Given the description of an element on the screen output the (x, y) to click on. 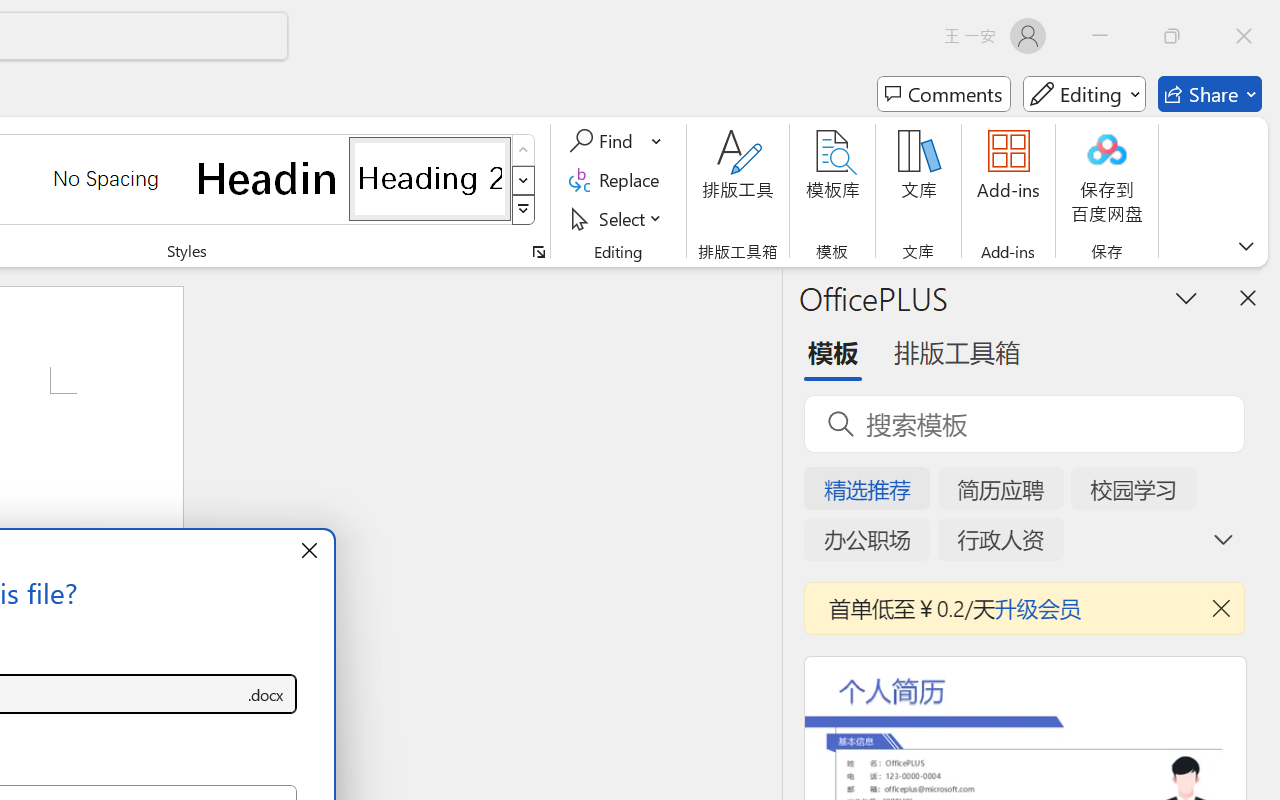
Close (1244, 36)
Styles... (538, 252)
Heading 1 (267, 178)
Select (618, 218)
Save as type (265, 694)
Minimize (1099, 36)
